Given the description of an element on the screen output the (x, y) to click on. 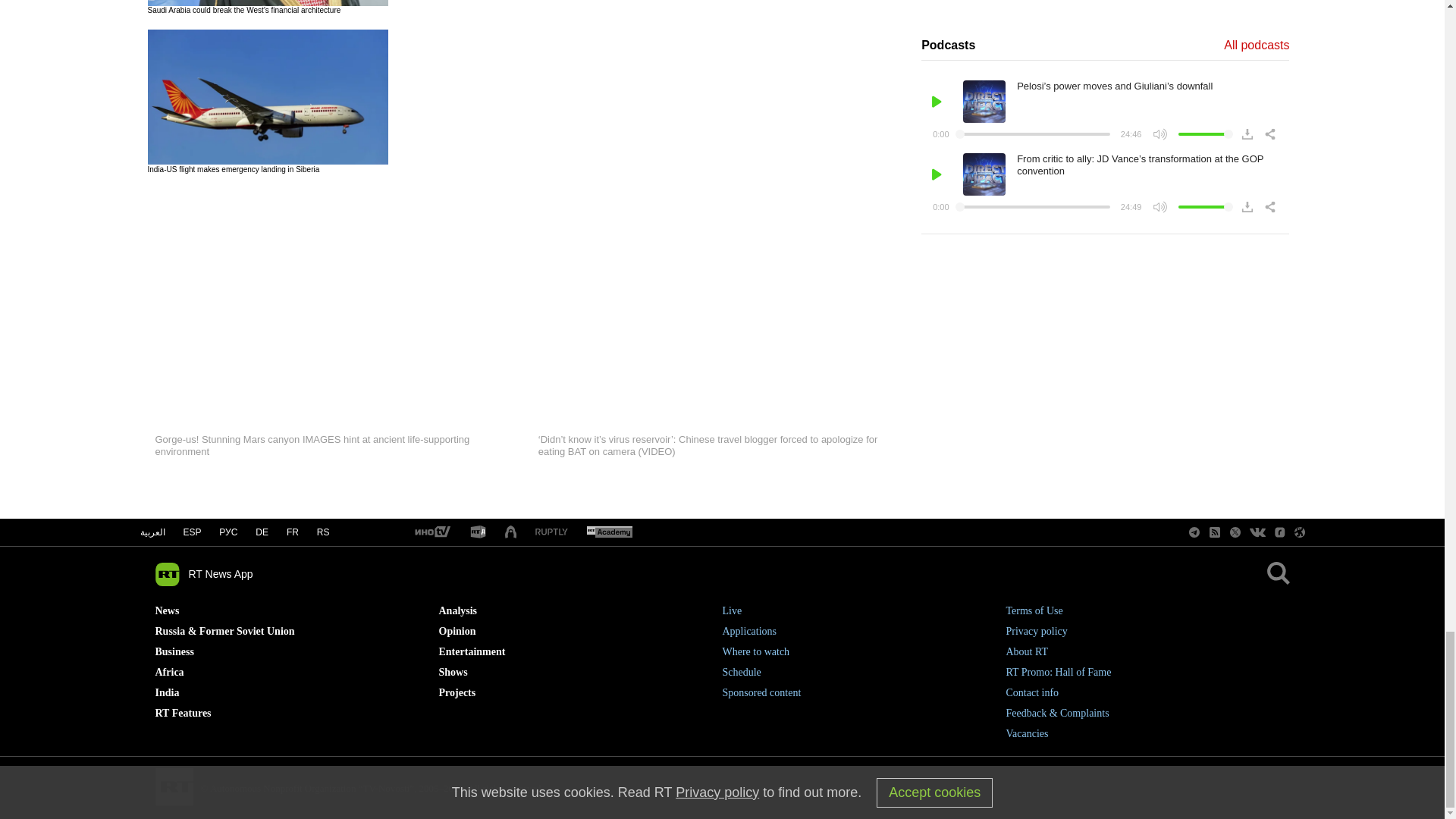
RT  (431, 532)
RT  (608, 532)
RT  (510, 532)
RT  (551, 532)
RT  (478, 532)
